Given the description of an element on the screen output the (x, y) to click on. 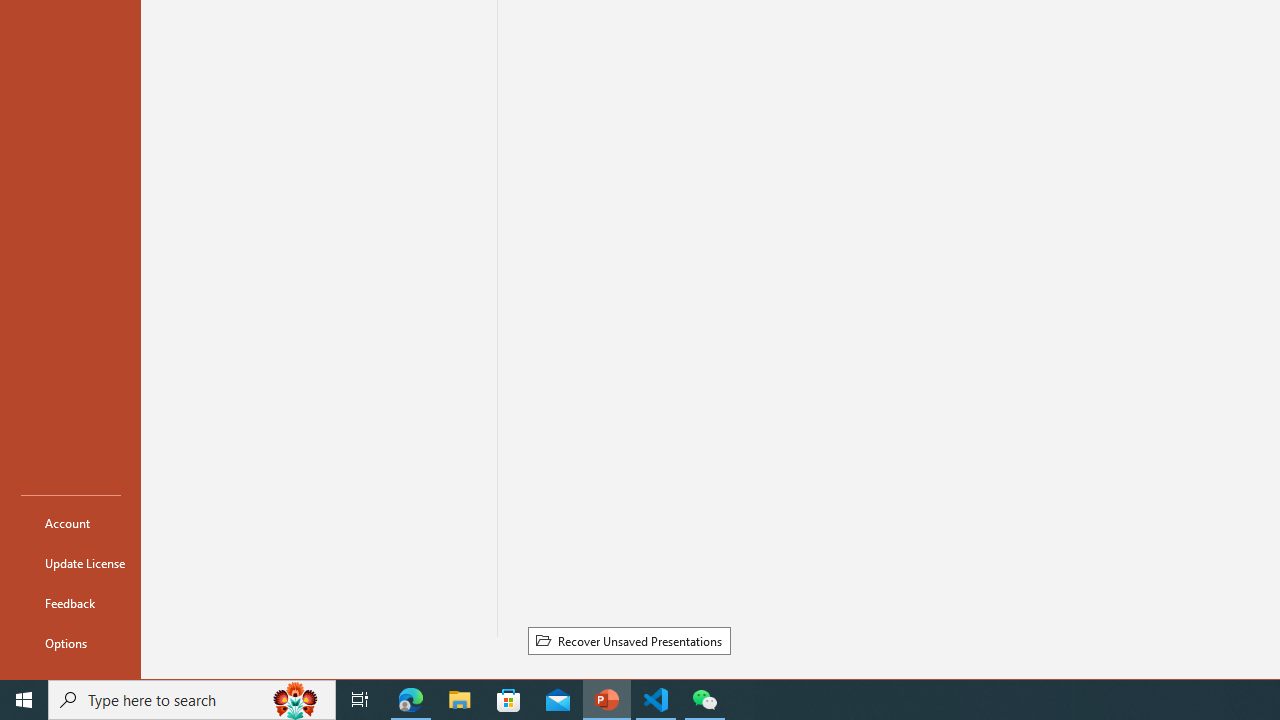
Options (70, 642)
Feedback (70, 602)
WeChat - 1 running window (704, 699)
Recover Unsaved Presentations (628, 641)
Account (70, 522)
Update License (70, 562)
